Given the description of an element on the screen output the (x, y) to click on. 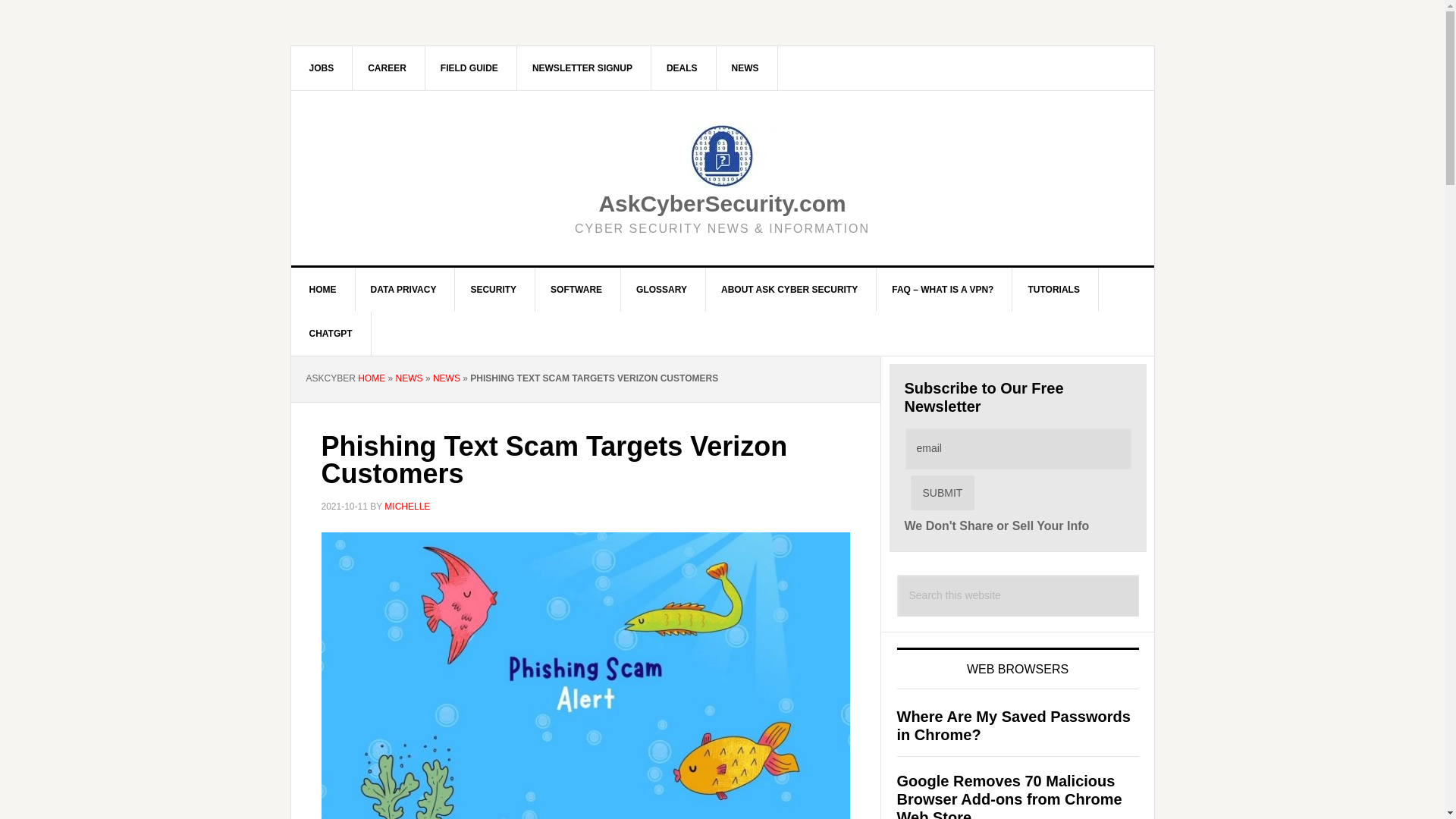
Submit (942, 492)
What is Cyber Security? (493, 289)
FIELD GUIDE (469, 67)
SOFTWARE (576, 289)
Software (576, 289)
CAREER (387, 67)
DEALS (681, 67)
GLOSSARY (661, 289)
Computer Security While Traveling (469, 67)
News (745, 67)
HOME (323, 289)
NEWS (745, 67)
Data Privacy (403, 289)
NEWSLETTER SIGNUP (581, 67)
